Given the description of an element on the screen output the (x, y) to click on. 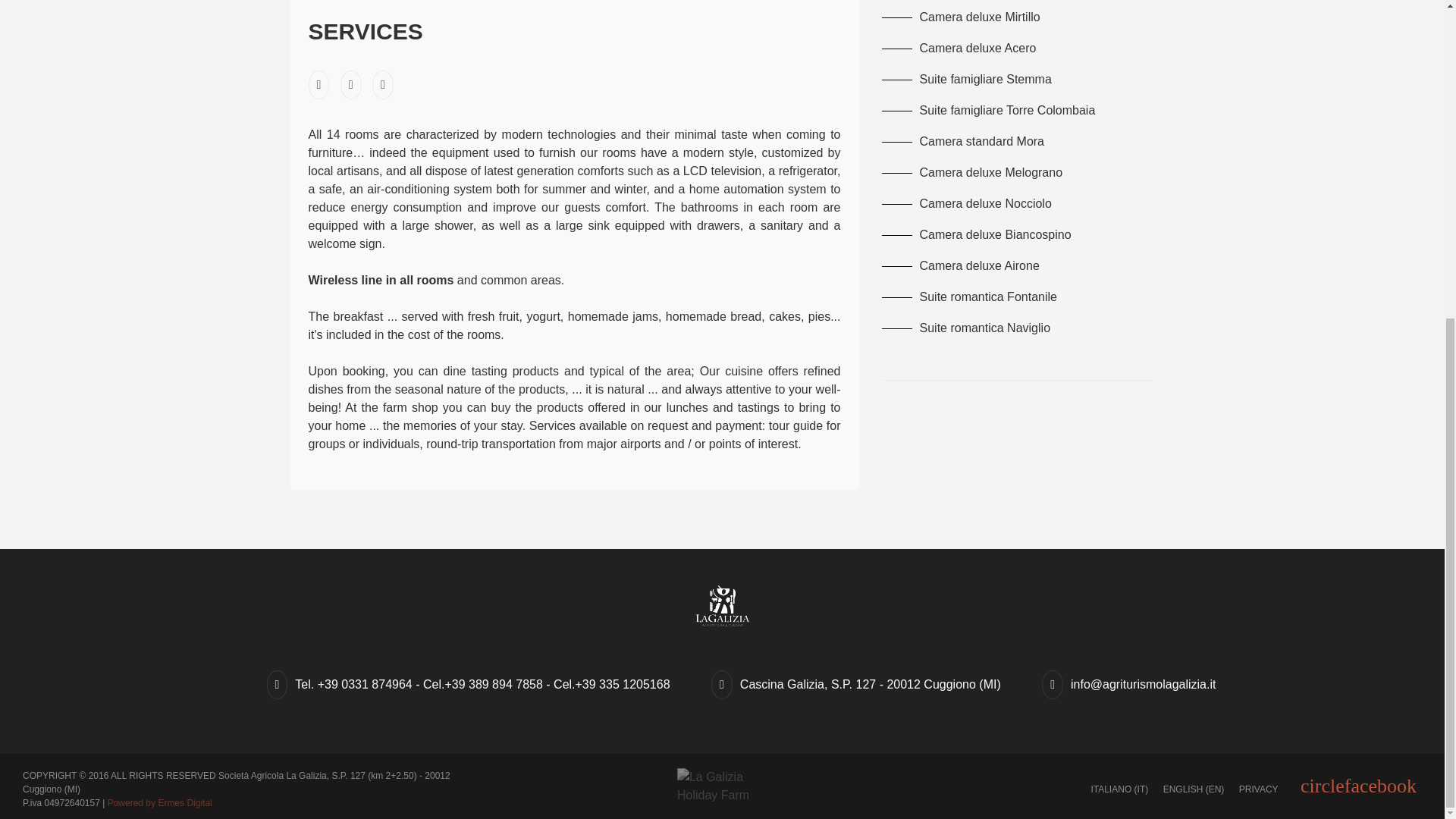
Realizzazione siti web e Seo Milano (159, 802)
Camera deluxe Acero (957, 47)
Suite romantica Naviglio (964, 327)
Camera standard Mora (961, 141)
circlefacebook (1361, 786)
Camera deluxe Biancospino (975, 234)
Camera deluxe Melograno (971, 172)
Suite famigliare Stemma (965, 78)
Camera deluxe Mirtillo (959, 16)
PRIVACY (1258, 788)
